Given the description of an element on the screen output the (x, y) to click on. 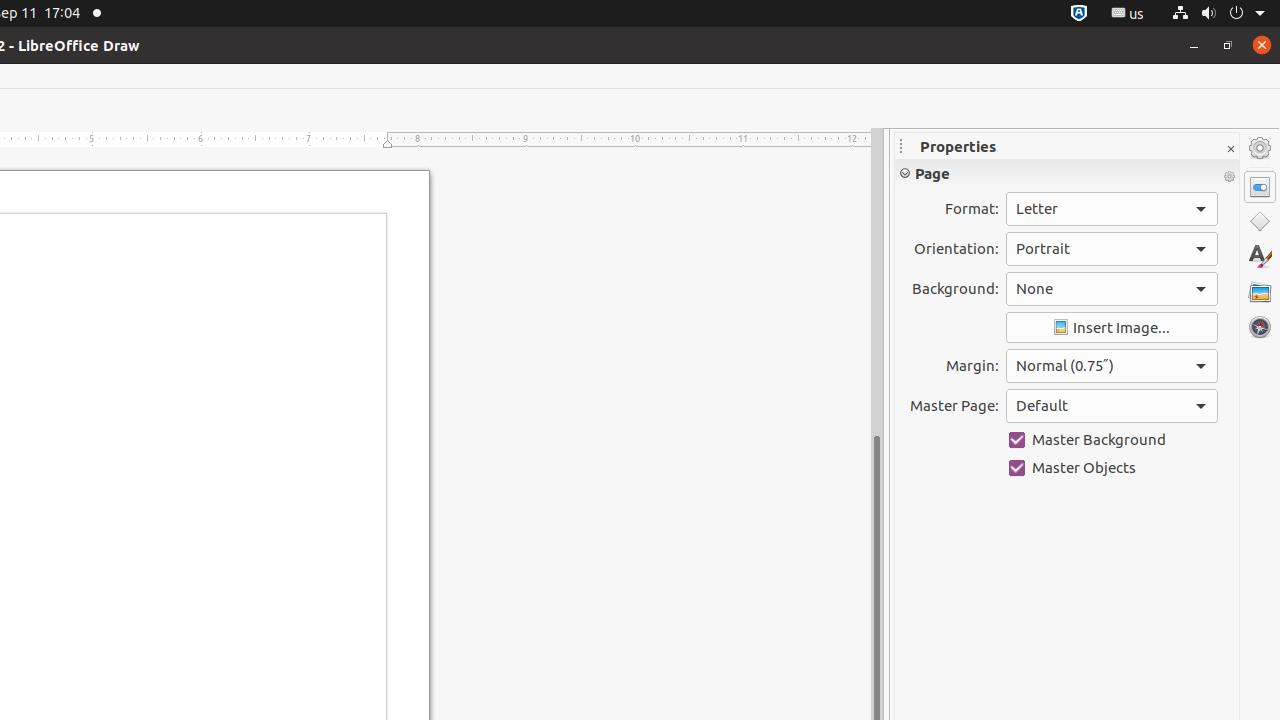
Insert Image Element type: push-button (1112, 327)
Master Objects Element type: check-box (1112, 468)
Orientation: Element type: combo-box (1112, 249)
Master Background Element type: check-box (1112, 440)
